Given the description of an element on the screen output the (x, y) to click on. 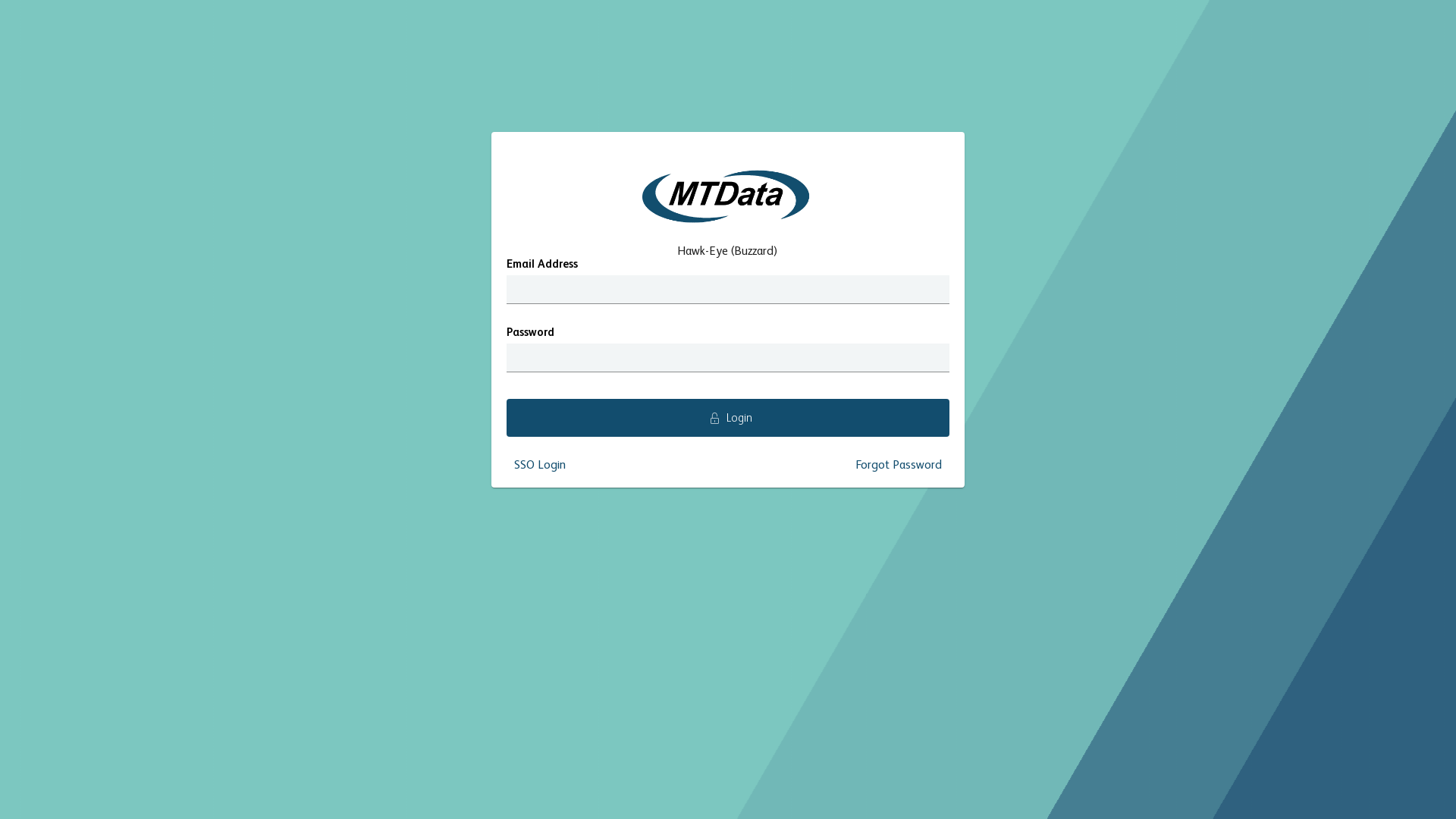
SSO Login Element type: text (539, 465)
Login Element type: text (727, 417)
Forgot Password Element type: text (898, 465)
